Given the description of an element on the screen output the (x, y) to click on. 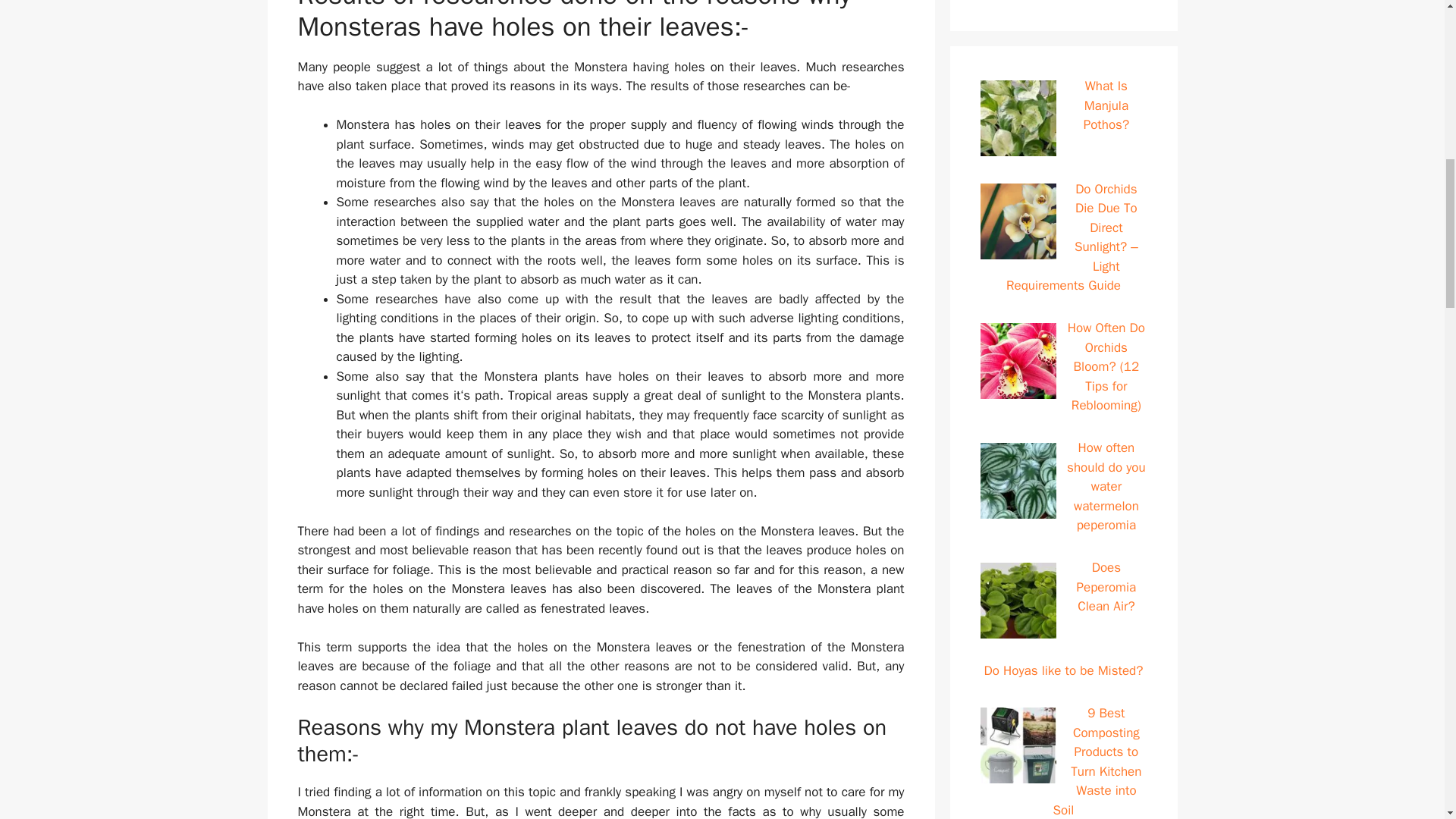
9 Best Composting Products to Turn Kitchen Waste into Soil 7 (1017, 744)
What Is Manjula Pothos? 2 (1017, 118)
What Is Manjula Pothos? (1106, 104)
Does Peperomia Clean Air? 6 (1017, 600)
Do Hoyas like to be Misted? (1063, 670)
How often should do you water watermelon peperomia 5 (1017, 480)
How often should do you water watermelon peperomia (1106, 486)
9 Best Composting Products to Turn Kitchen Waste into Soil (1096, 761)
Does Peperomia Clean Air? (1105, 586)
